Given the description of an element on the screen output the (x, y) to click on. 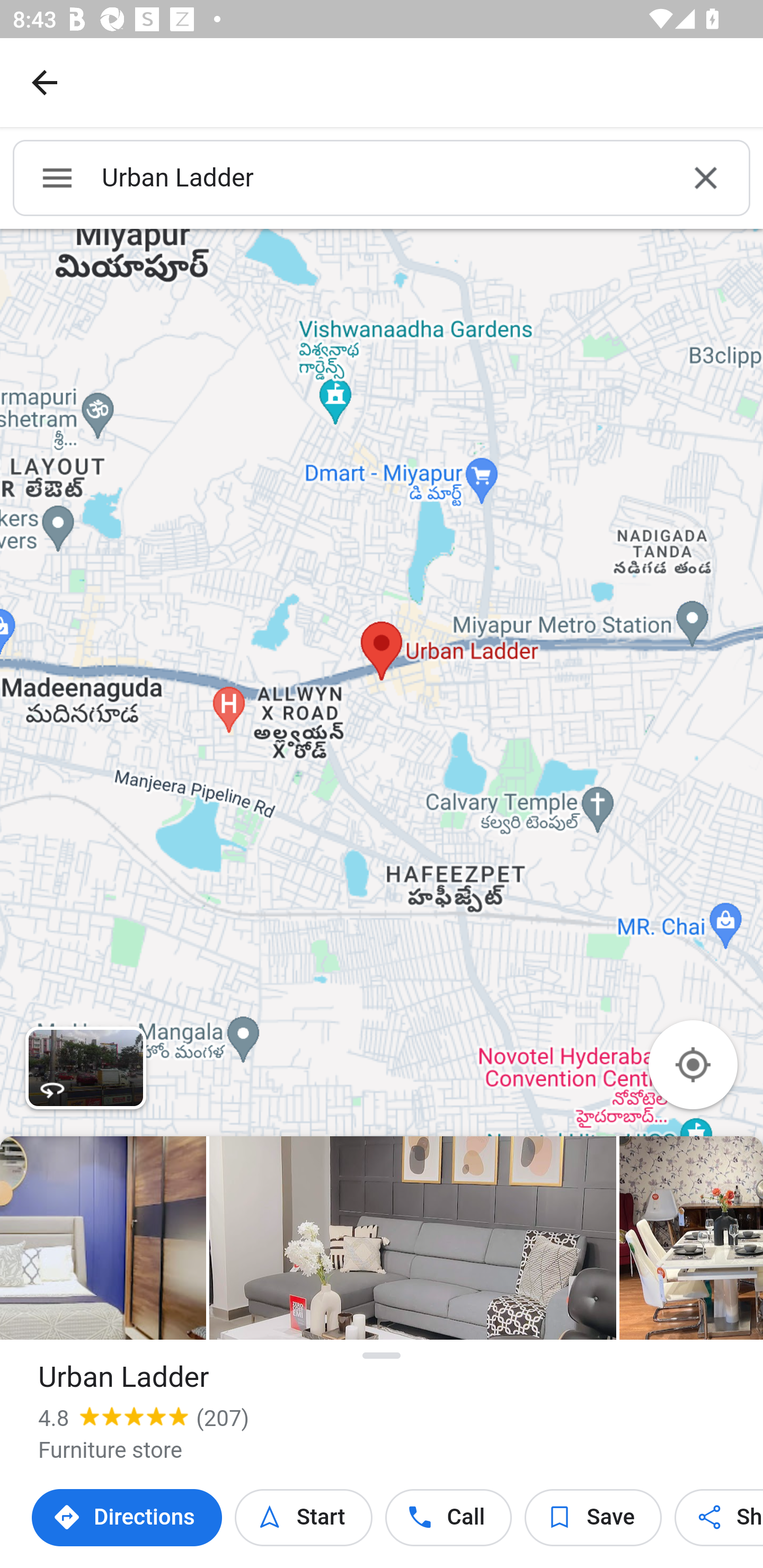
Navigate up (44, 82)
Photo 3 of 10 (412, 1237)
Show details (381, 1355)
Directions to Urban Ladder (127, 1517)
Start (303, 1517)
Call Urban Ladder  Call (448, 1517)
Save Urban Ladder in your lists (593, 1517)
Share Urban Ladder (718, 1517)
